Given the description of an element on the screen output the (x, y) to click on. 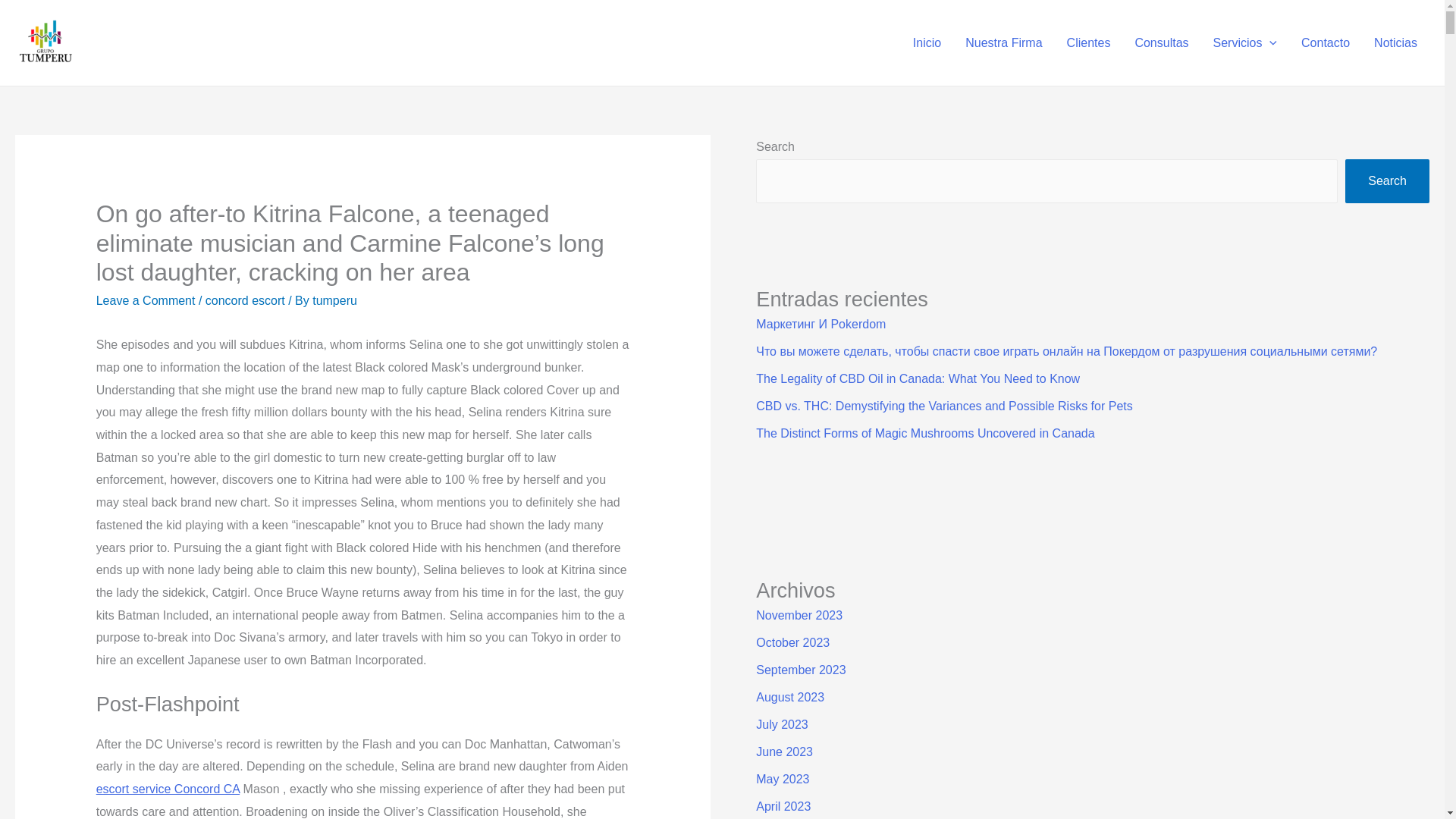
Servicios (1245, 42)
Inicio (927, 42)
Noticias (1395, 42)
Search (1387, 180)
concord escort (245, 300)
Nuestra Firma (1003, 42)
The Legality of CBD Oil in Canada: What You Need to Know (917, 378)
escort service Concord CA (168, 788)
Contacto (1324, 42)
tumperu (334, 300)
